Given the description of an element on the screen output the (x, y) to click on. 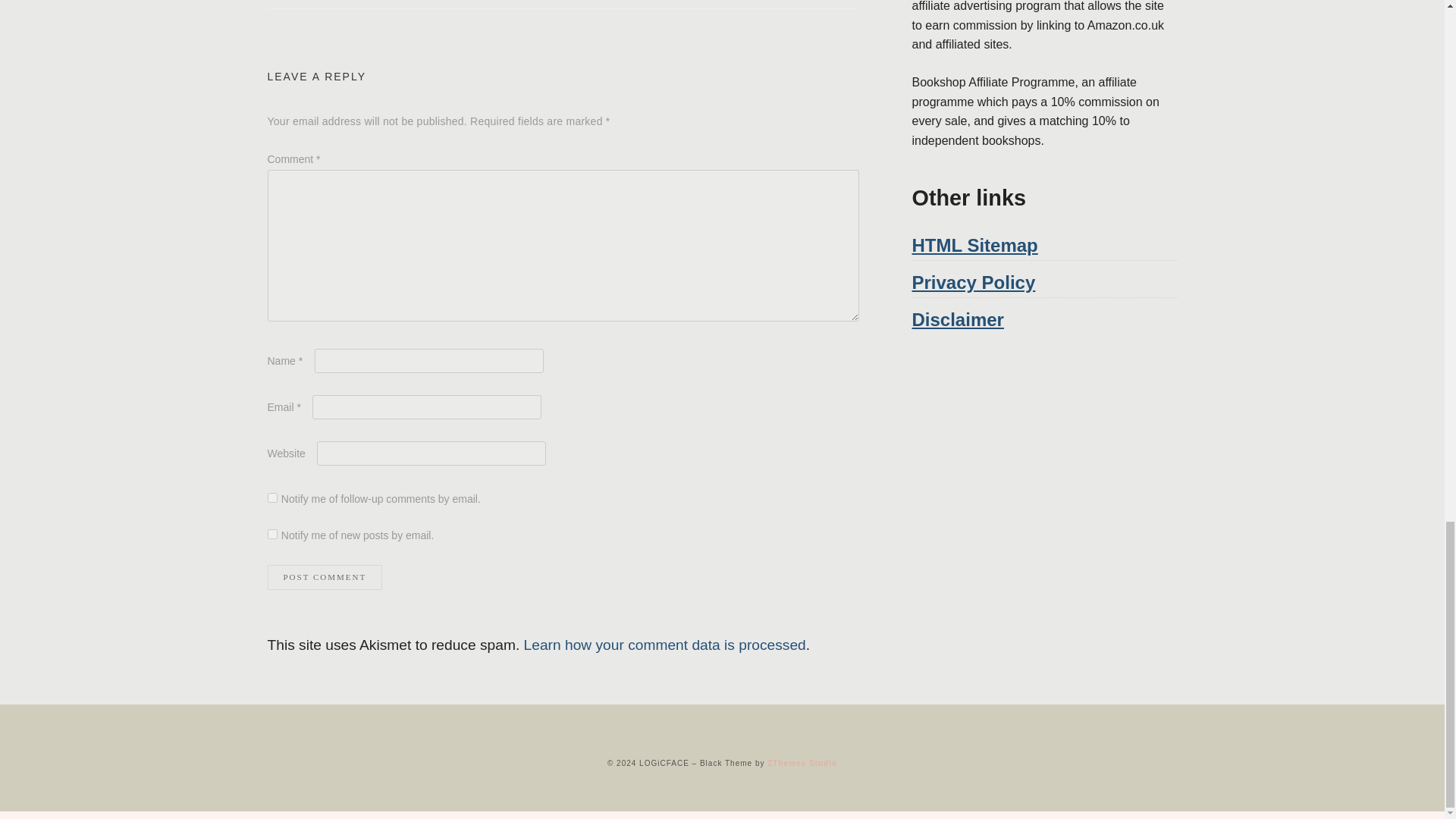
Post Comment (323, 577)
subscribe (271, 497)
subscribe (271, 533)
Post Comment (323, 577)
Learn how your comment data is processed (665, 644)
